Given the description of an element on the screen output the (x, y) to click on. 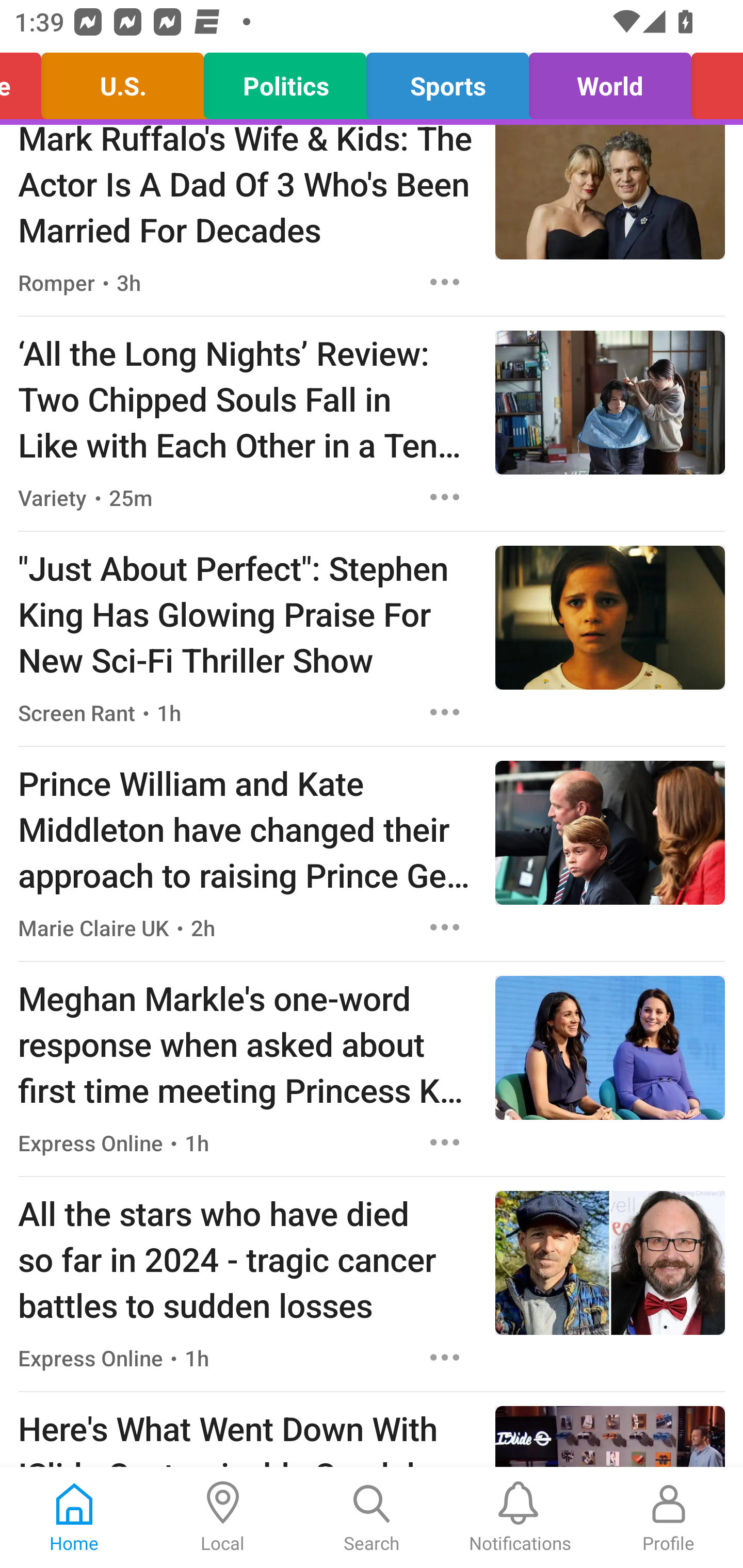
U.S. (122, 81)
Politics (285, 81)
Sports (447, 81)
World (609, 81)
Options (444, 282)
Options (444, 497)
Options (444, 711)
Options (444, 927)
Options (444, 1142)
Options (444, 1357)
Local (222, 1517)
Search (371, 1517)
Notifications (519, 1517)
Profile (668, 1517)
